Given the description of an element on the screen output the (x, y) to click on. 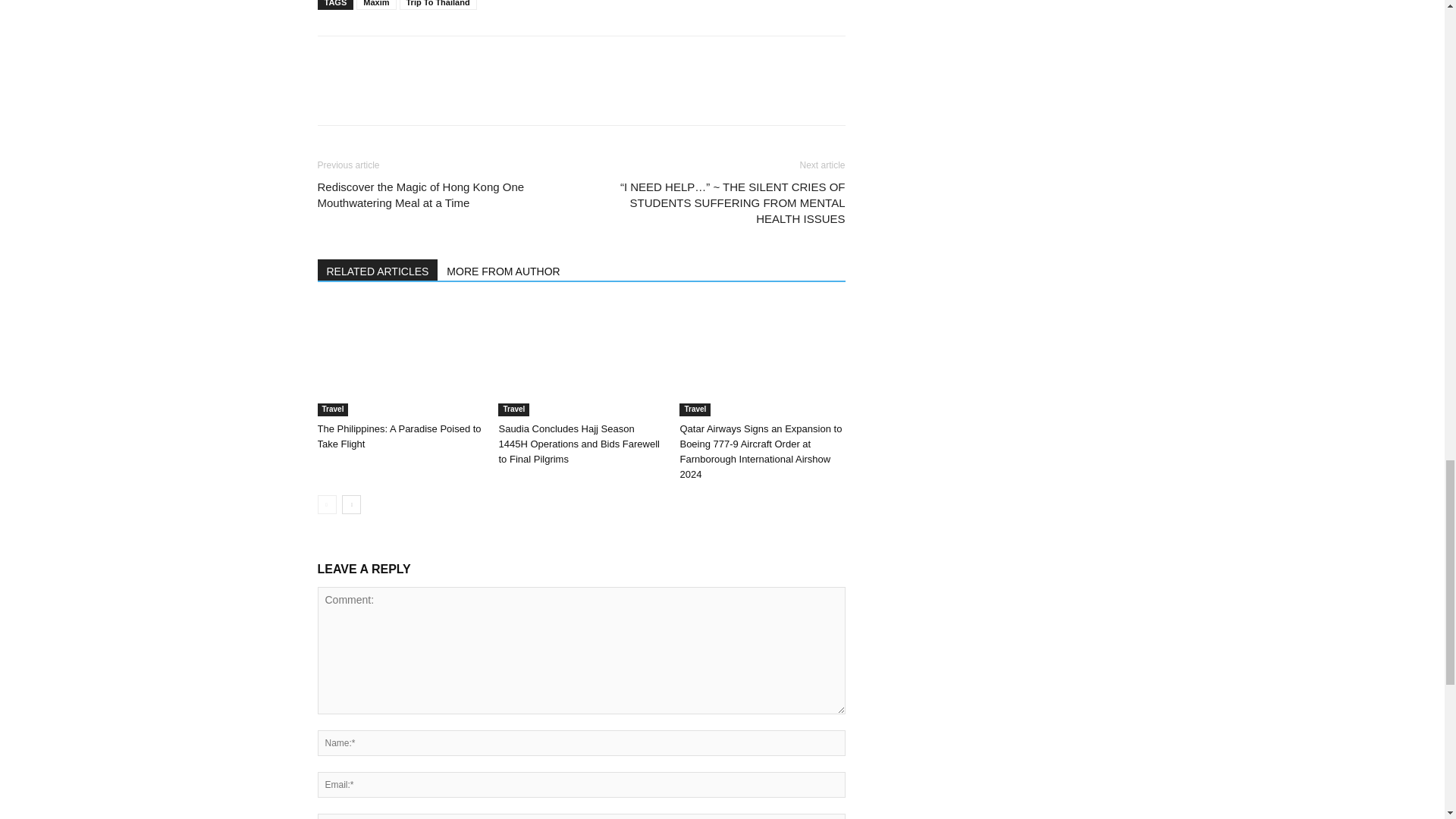
Trip To Thailand (437, 4)
Maxim (376, 4)
